Given the description of an element on the screen output the (x, y) to click on. 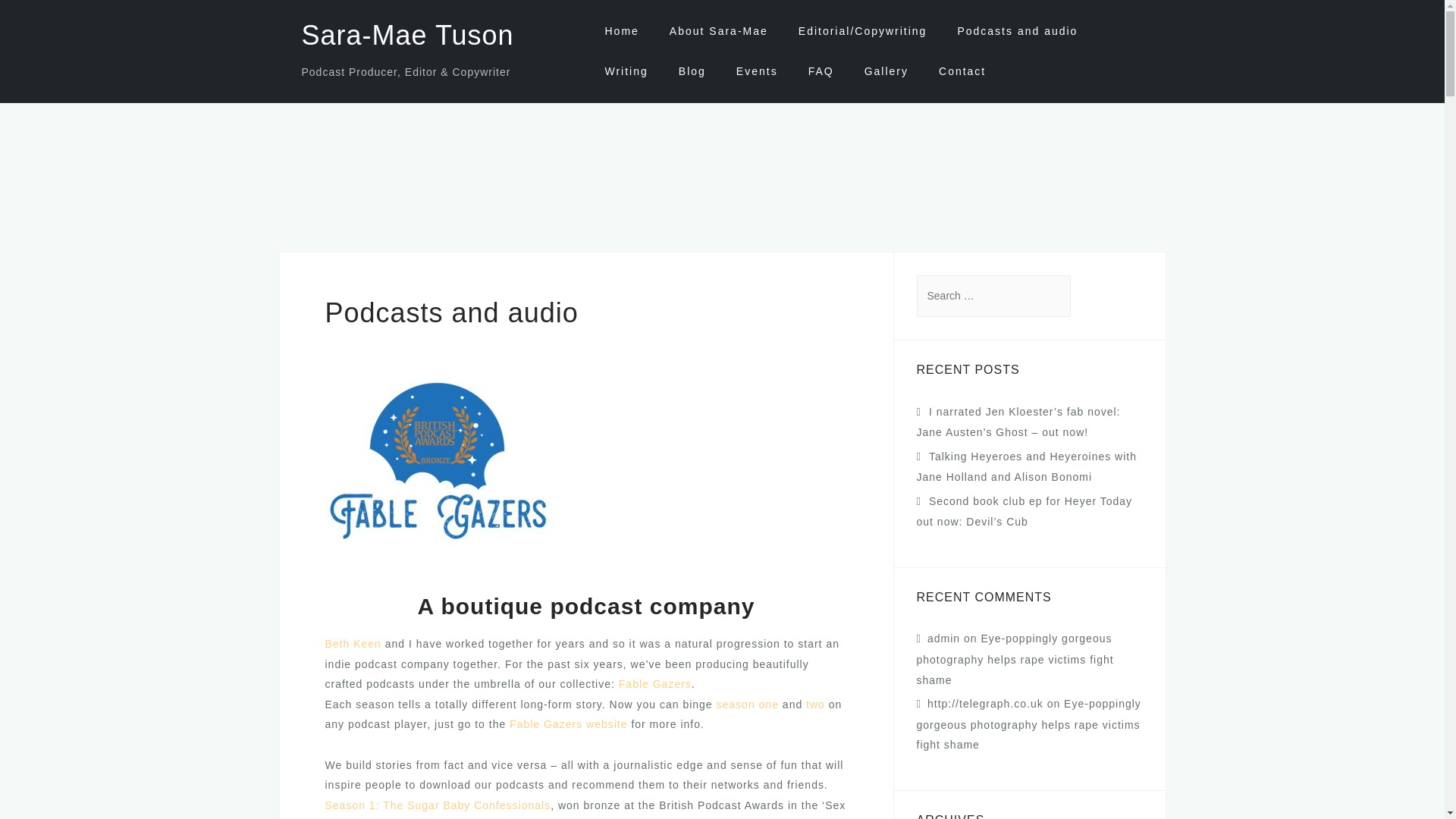
Fable Gazers website (568, 724)
Podcasts and audio (1016, 31)
Events (756, 71)
Home (621, 31)
About Sara-Mae (718, 31)
Season 1: The Sugar Baby Confessionals (437, 805)
FAQ (821, 71)
Writing (625, 71)
Gallery (886, 71)
two (815, 704)
